Given the description of an element on the screen output the (x, y) to click on. 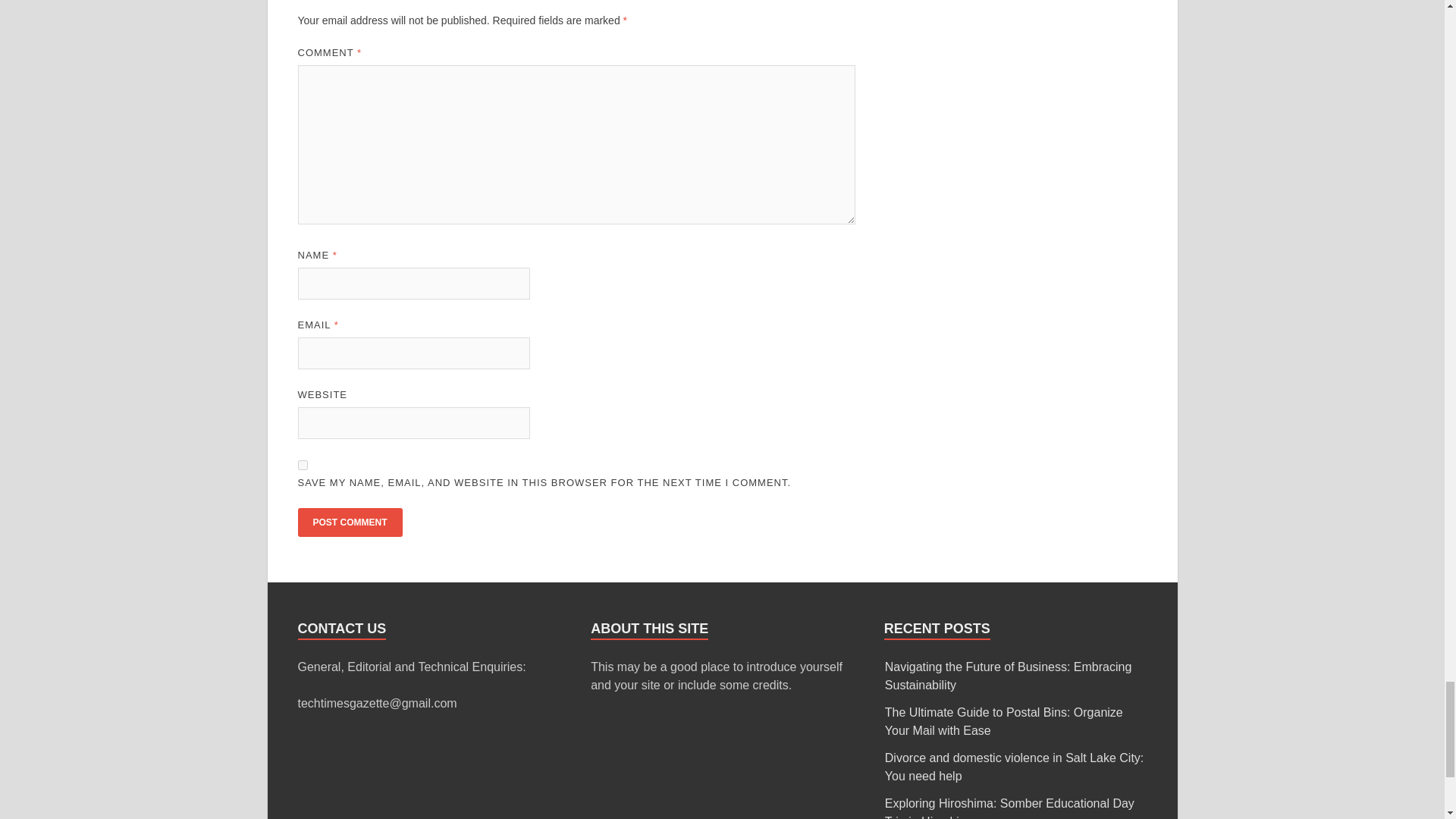
yes (302, 465)
Post Comment (349, 522)
